Given the description of an element on the screen output the (x, y) to click on. 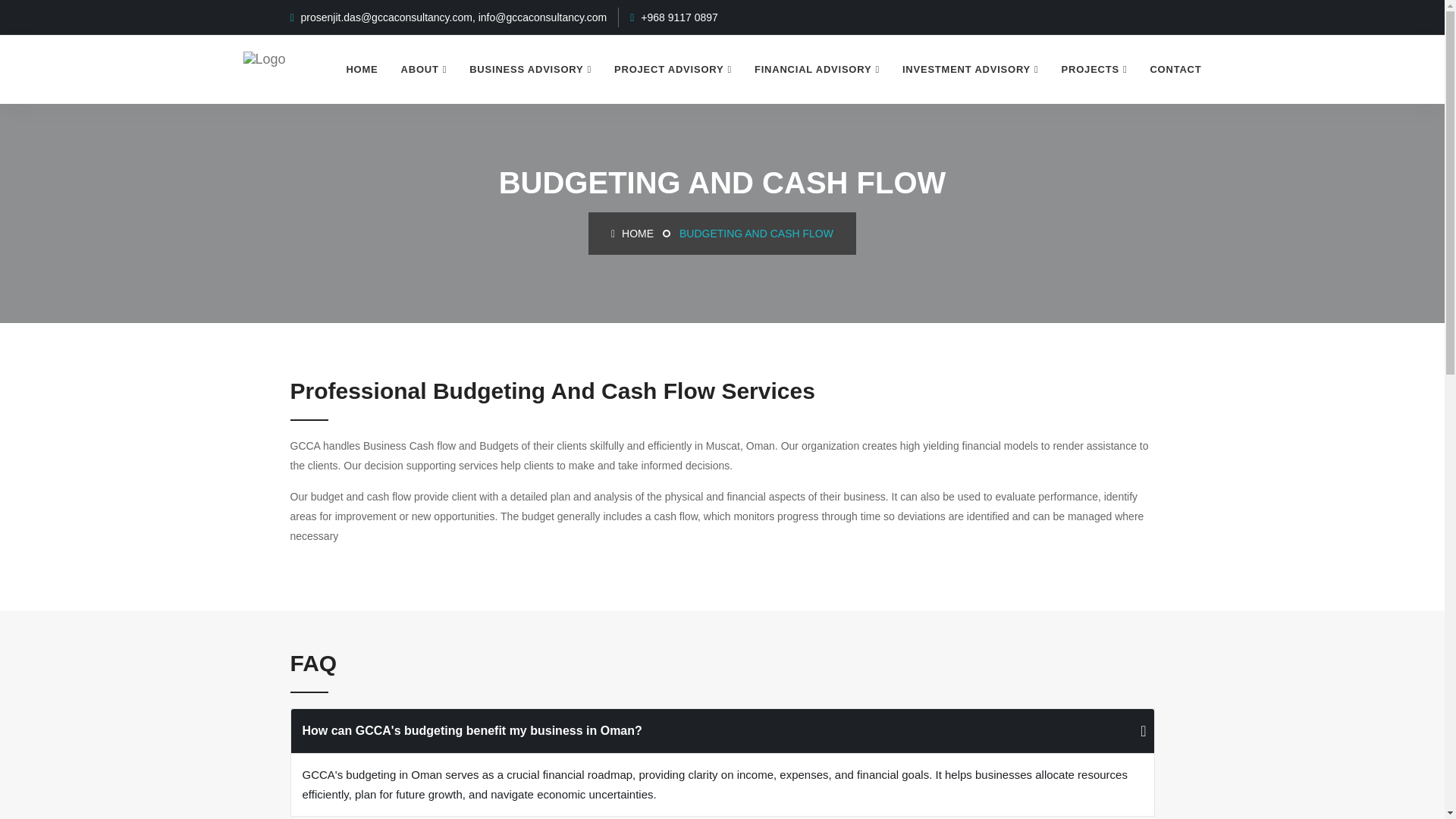
INVESTMENT ADVISORY (970, 70)
FINANCIAL ADVISORY (816, 70)
PROJECTS (1093, 70)
BUSINESS ADVISORY (530, 70)
PROJECT ADVISORY (672, 70)
ABOUT (424, 70)
